Given the description of an element on the screen output the (x, y) to click on. 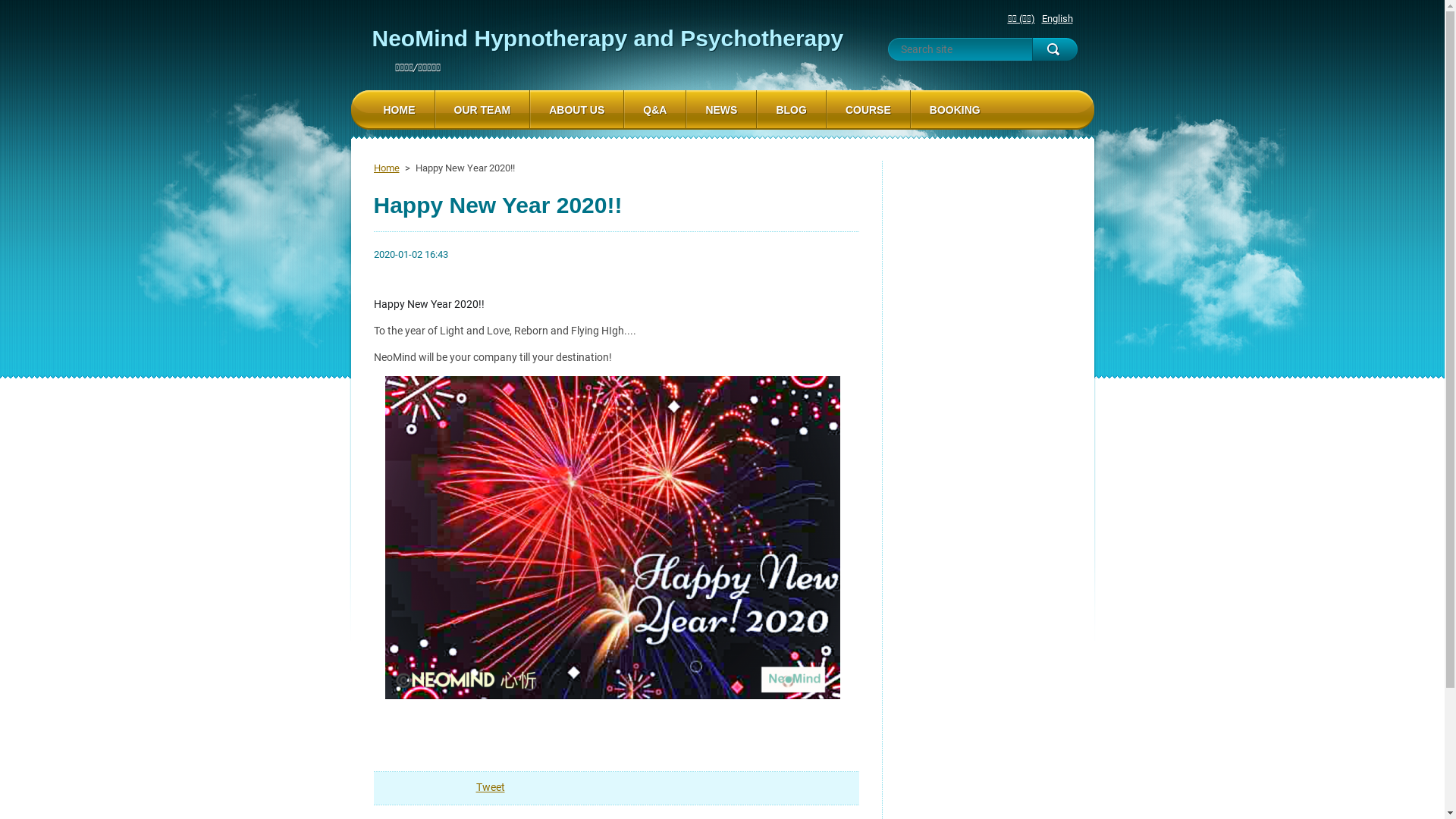
OUR TEAM Element type: text (482, 109)
NEWS Element type: text (721, 109)
ABOUT US Element type: text (576, 109)
COURSE Element type: text (868, 109)
Tweet Element type: text (490, 787)
NeoMind Hypnotherapy and Psychotherapy Element type: text (607, 37)
Search Element type: text (1053, 48)
Q&A Element type: text (654, 109)
Home Element type: text (385, 167)
BLOG Element type: text (790, 109)
HOME Element type: text (398, 109)
BOOKING Element type: text (954, 109)
English Element type: text (1057, 18)
